Given the description of an element on the screen output the (x, y) to click on. 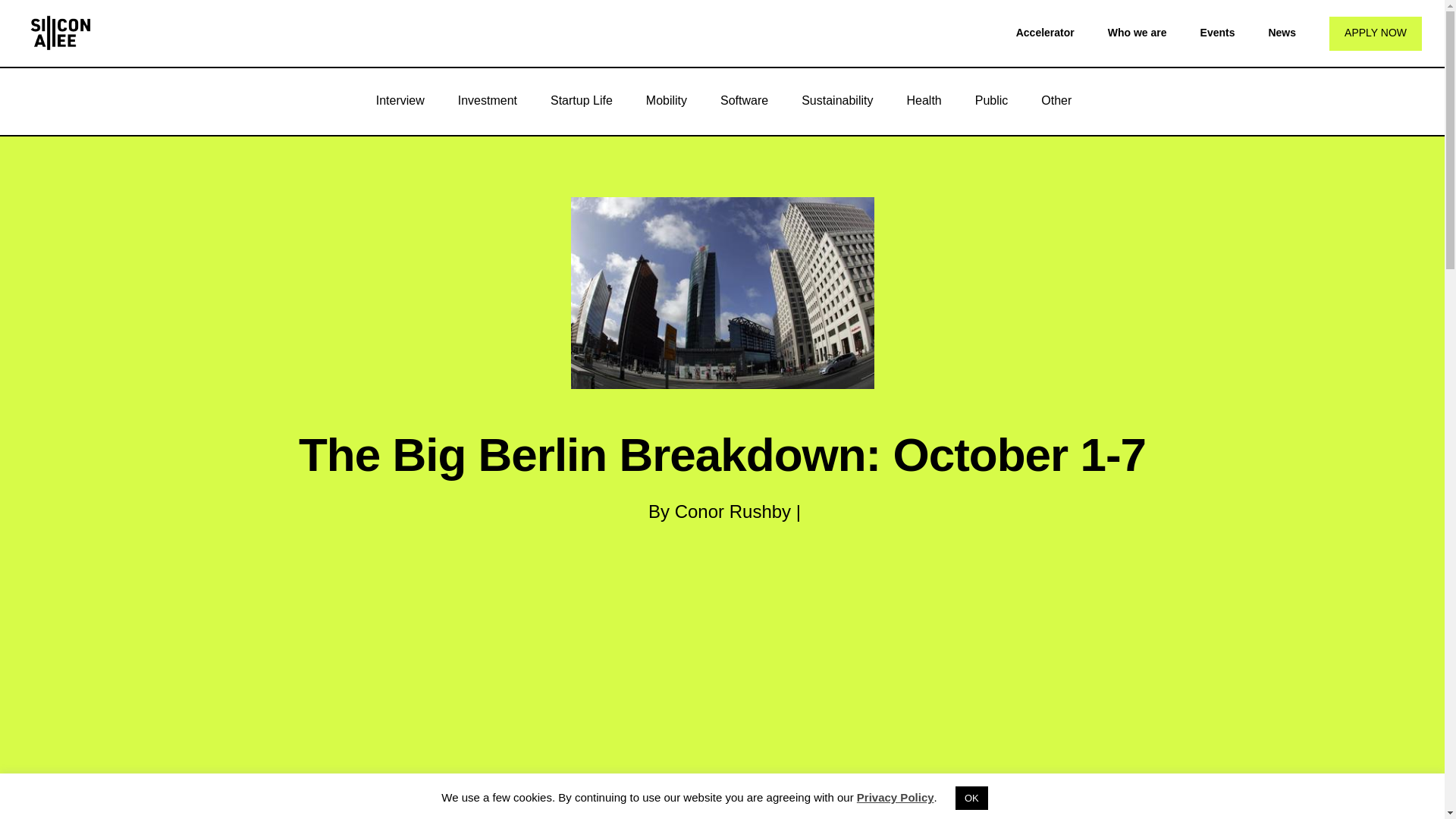
Investment (487, 100)
Accelerator (1045, 31)
APPLY NOW (1375, 33)
Startup Life (581, 100)
Health (923, 100)
Public (991, 100)
Mobility (665, 100)
Events (1216, 31)
Other (1056, 100)
Interview (400, 100)
News (1281, 31)
Who we are (1137, 31)
Sustainability (837, 100)
Software (743, 100)
